Given the description of an element on the screen output the (x, y) to click on. 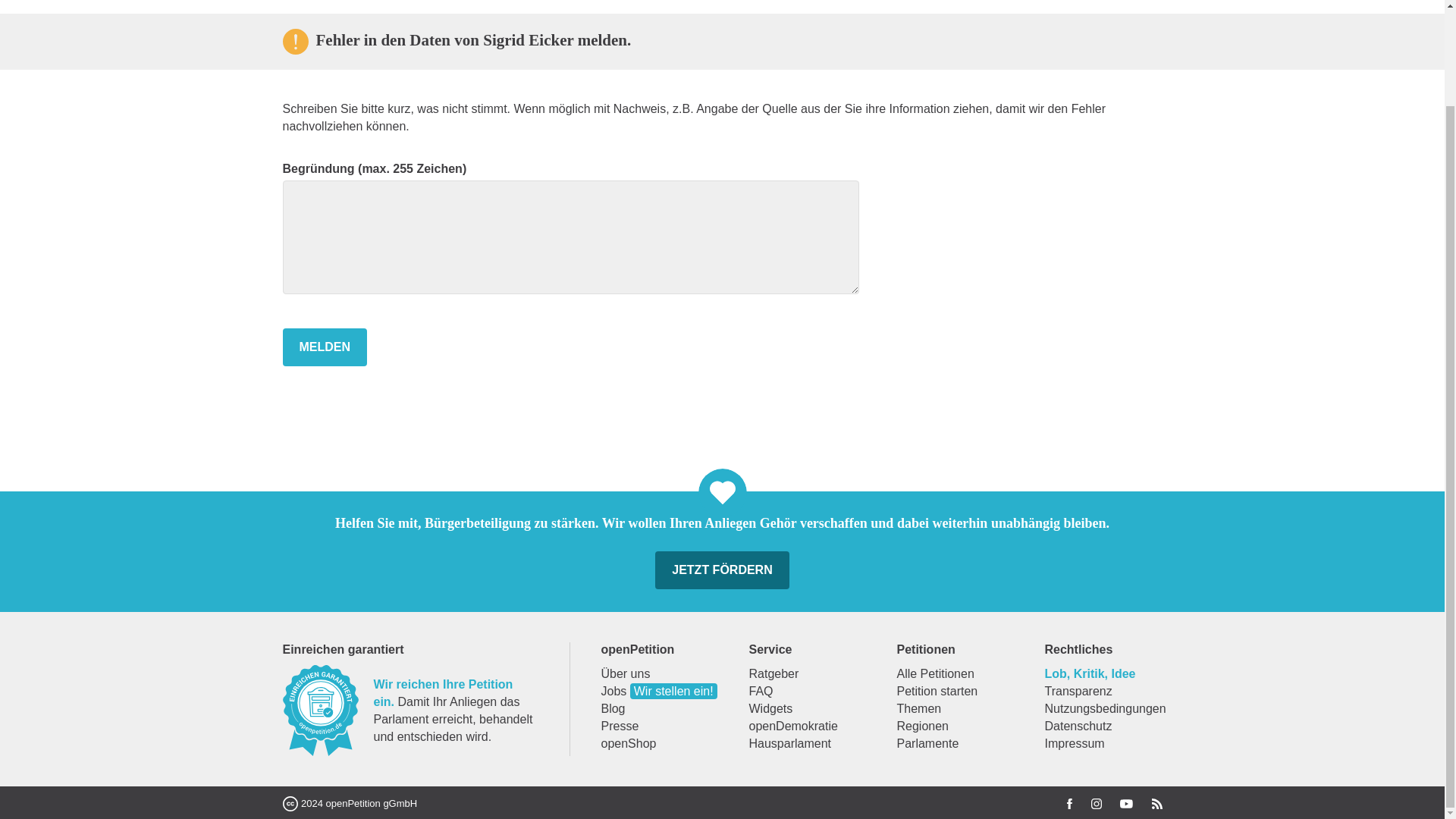
Melden (324, 347)
